Given the description of an element on the screen output the (x, y) to click on. 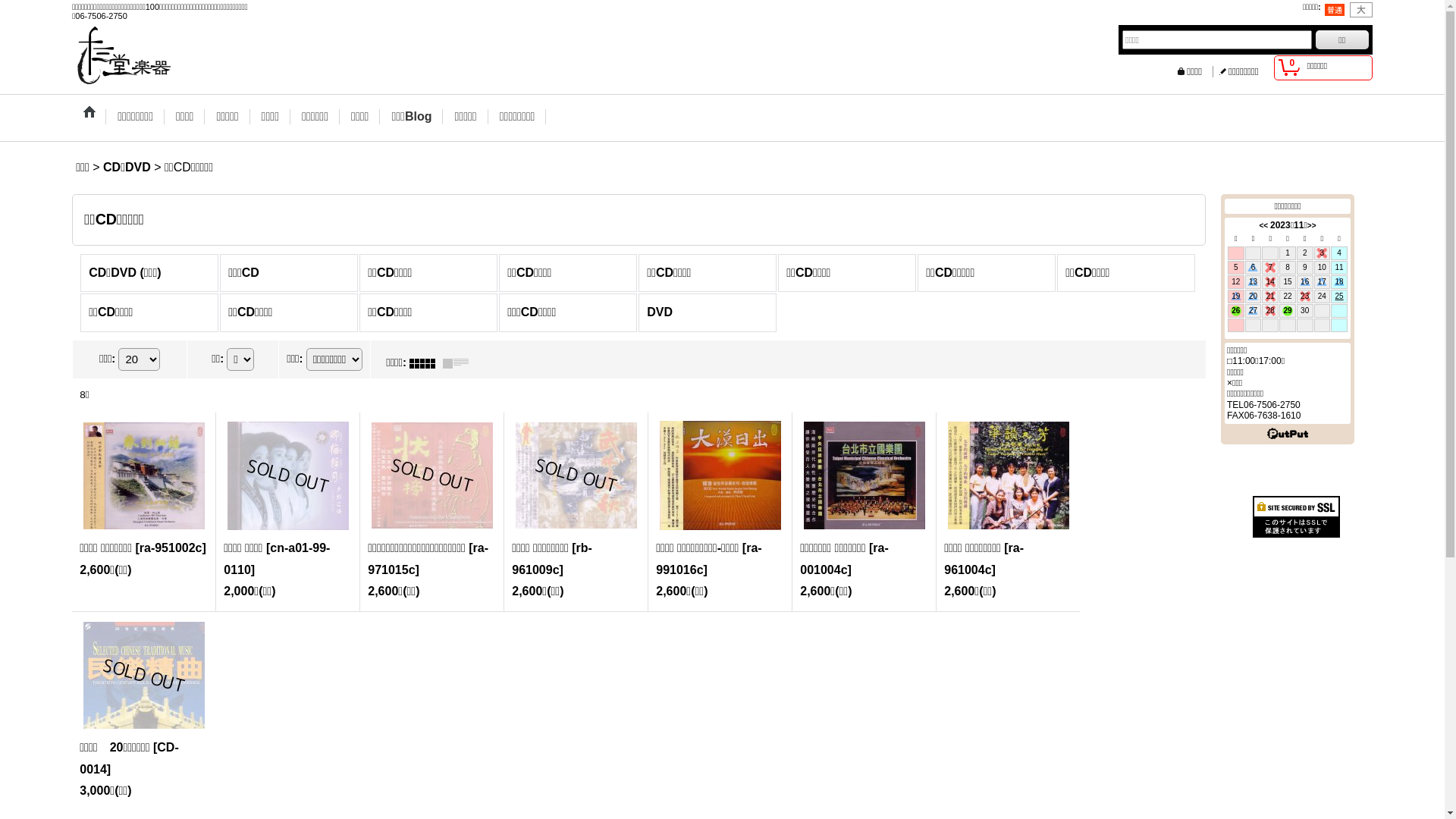
DVD Element type: text (707, 312)
